Given the description of an element on the screen output the (x, y) to click on. 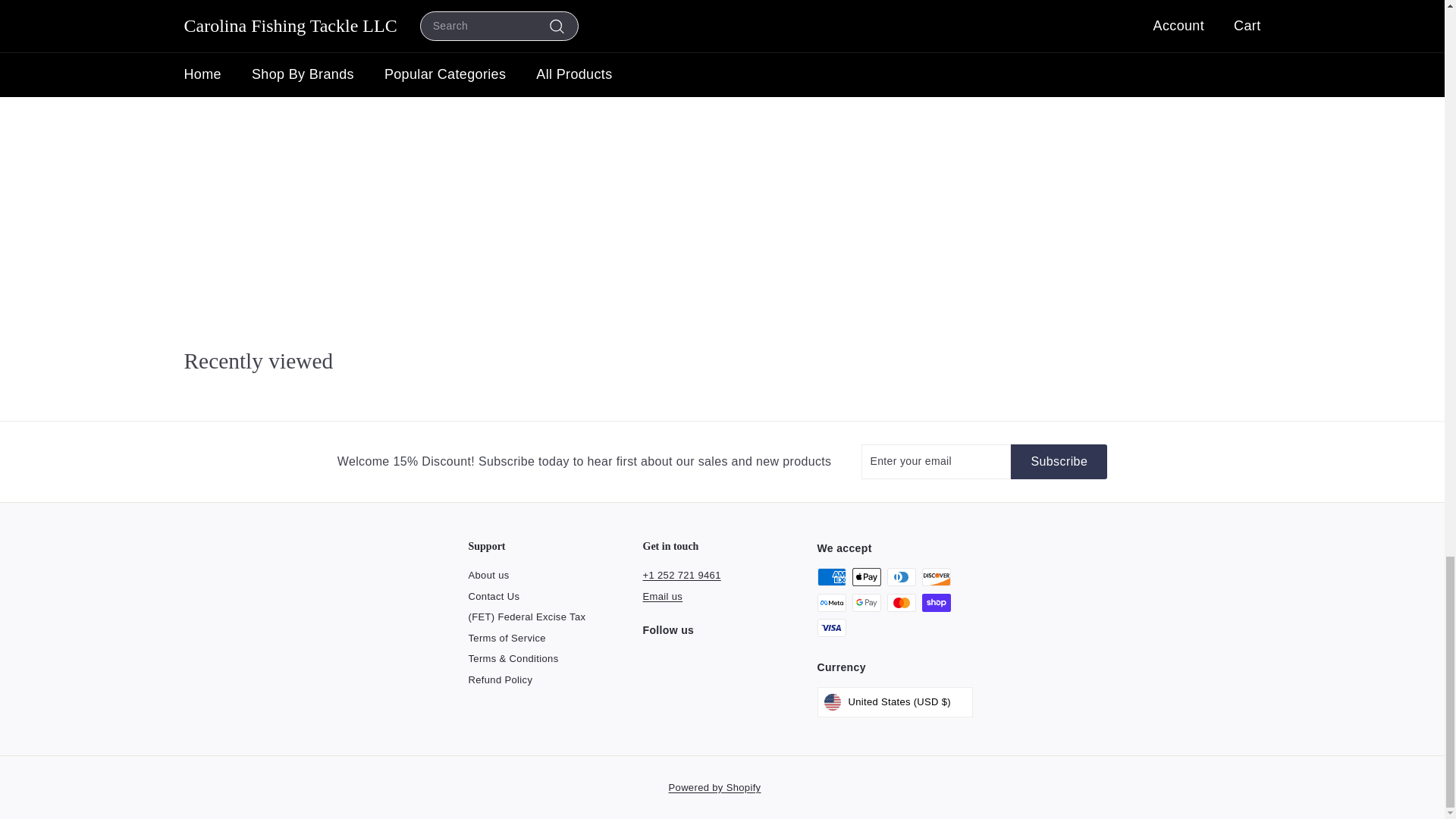
Visa (830, 628)
American Express (830, 577)
Shop Pay (935, 602)
Apple Pay (865, 577)
Discover (935, 577)
Meta Pay (830, 602)
Diners Club (900, 577)
Mastercard (900, 602)
Google Pay (865, 602)
